Given the description of an element on the screen output the (x, y) to click on. 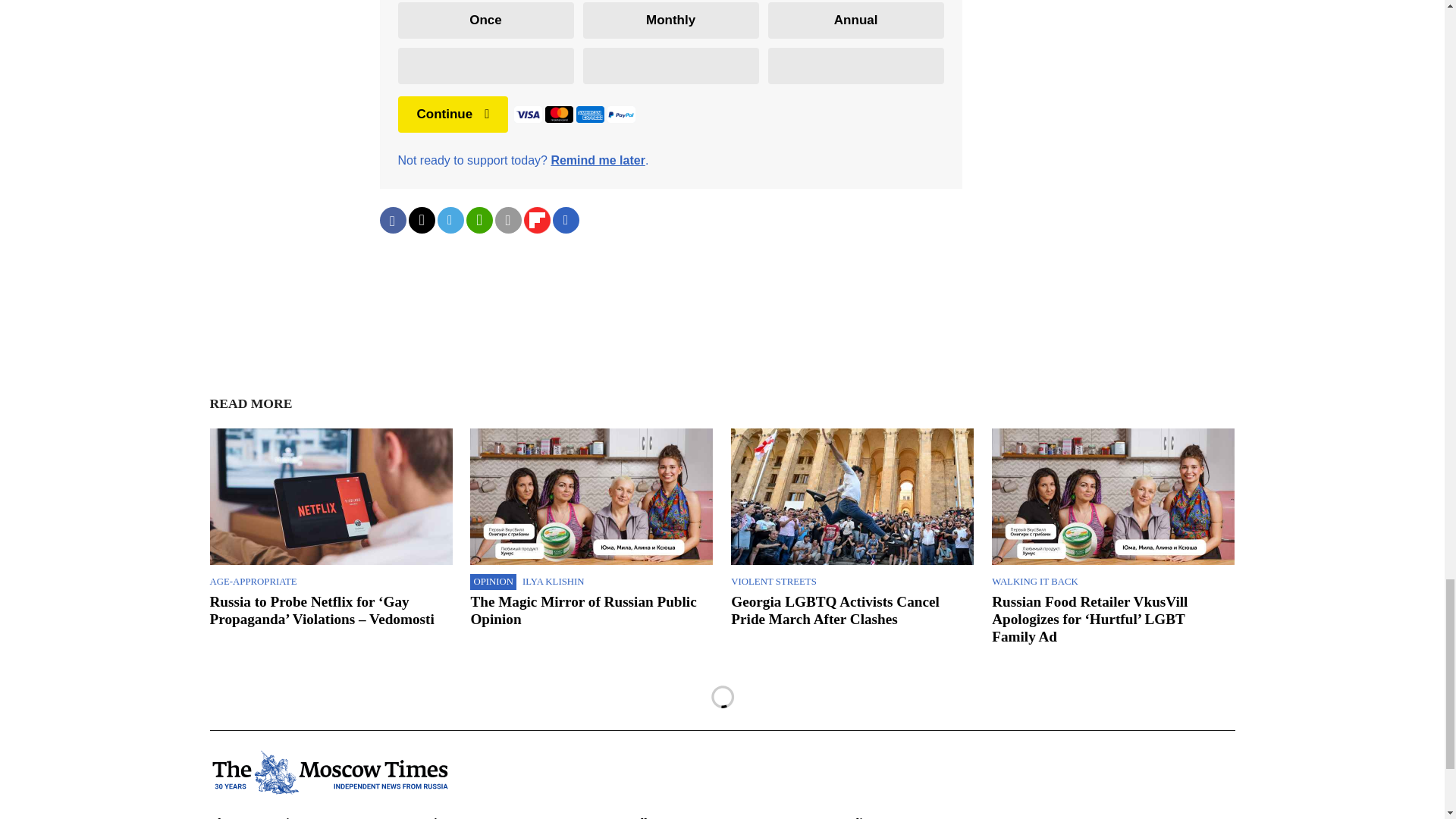
Share on Twitter (420, 220)
Share on Facebook (392, 220)
Share on Telegram (449, 220)
